Given the description of an element on the screen output the (x, y) to click on. 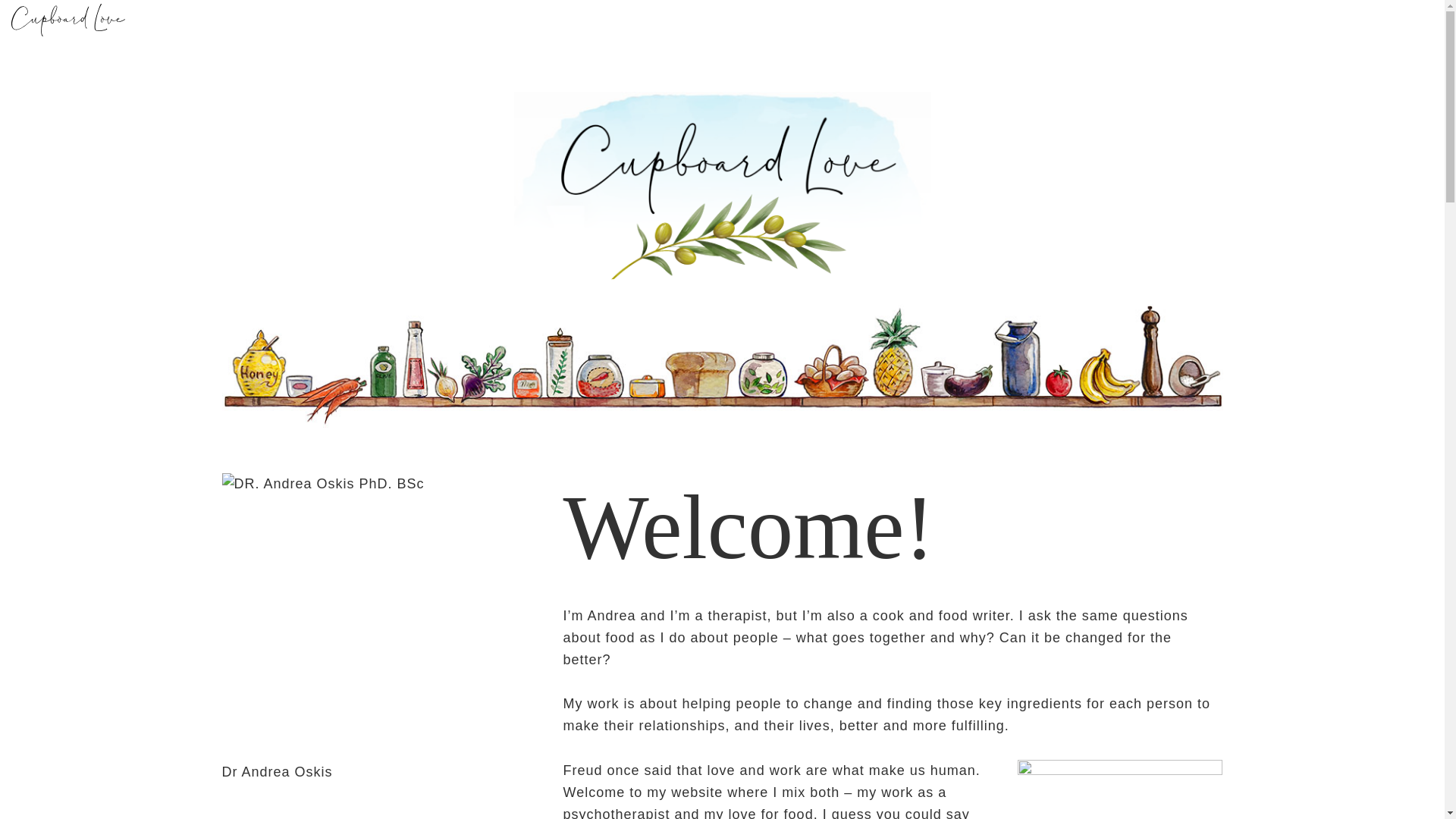
RECIPES (959, 22)
ABOUT ME (348, 22)
THERAPY SERVICES (614, 22)
QUESTIONNAIRE (856, 22)
CONTACT (1099, 22)
ASK ANDREA (740, 22)
WHY ATTACHMENT? (465, 22)
BLOG (1027, 22)
